Given the description of an element on the screen output the (x, y) to click on. 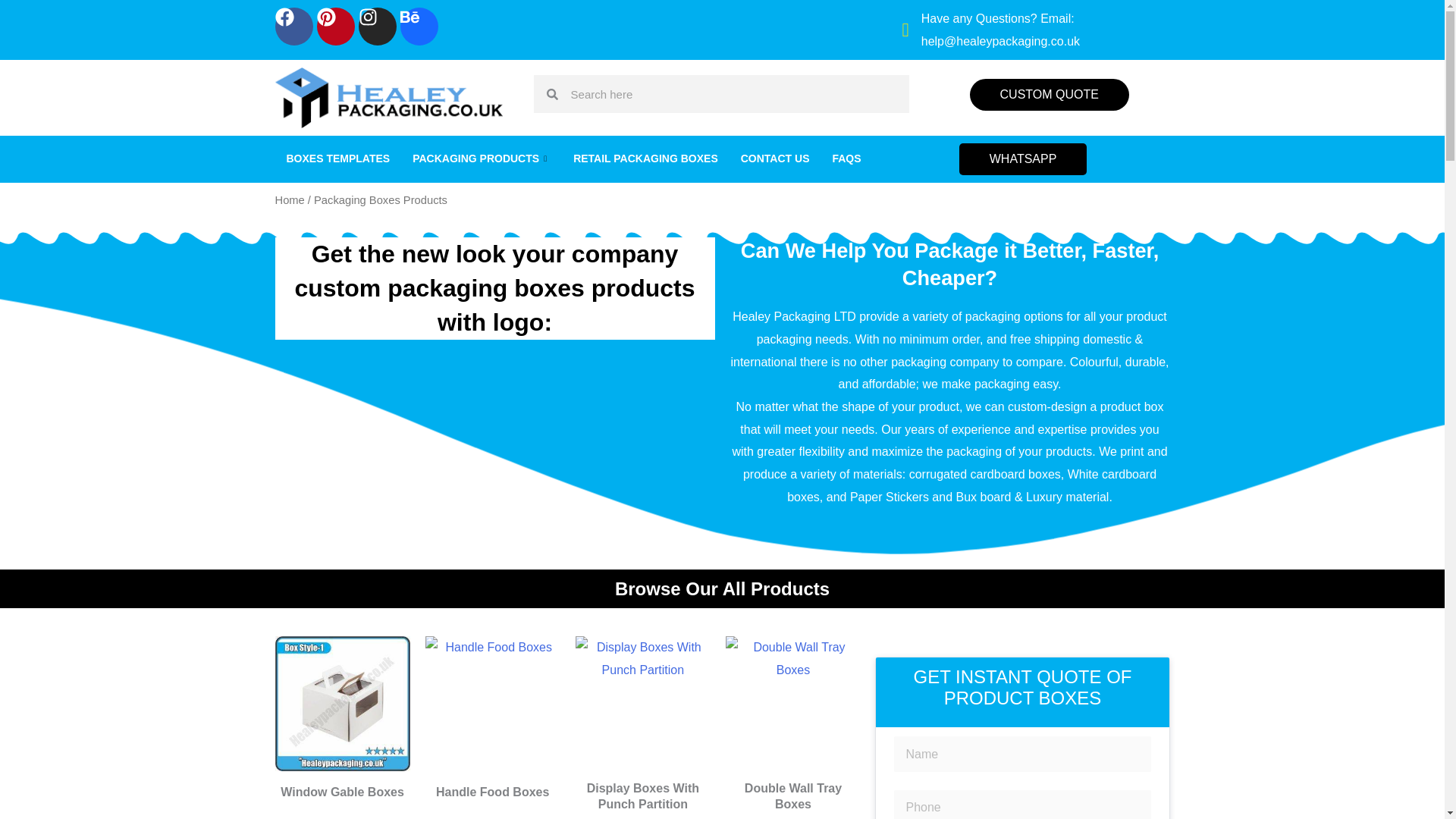
Packaging Boxes Products (642, 703)
PACKAGING PRODUCTS (481, 158)
Instagram (377, 26)
Packaging Boxes Products (342, 703)
Behance (419, 26)
Facebook (294, 26)
CUSTOM QUOTE (1049, 94)
Packaging Boxes Products (792, 703)
Packaging Boxes Products (492, 703)
Pinterest (336, 26)
